Given the description of an element on the screen output the (x, y) to click on. 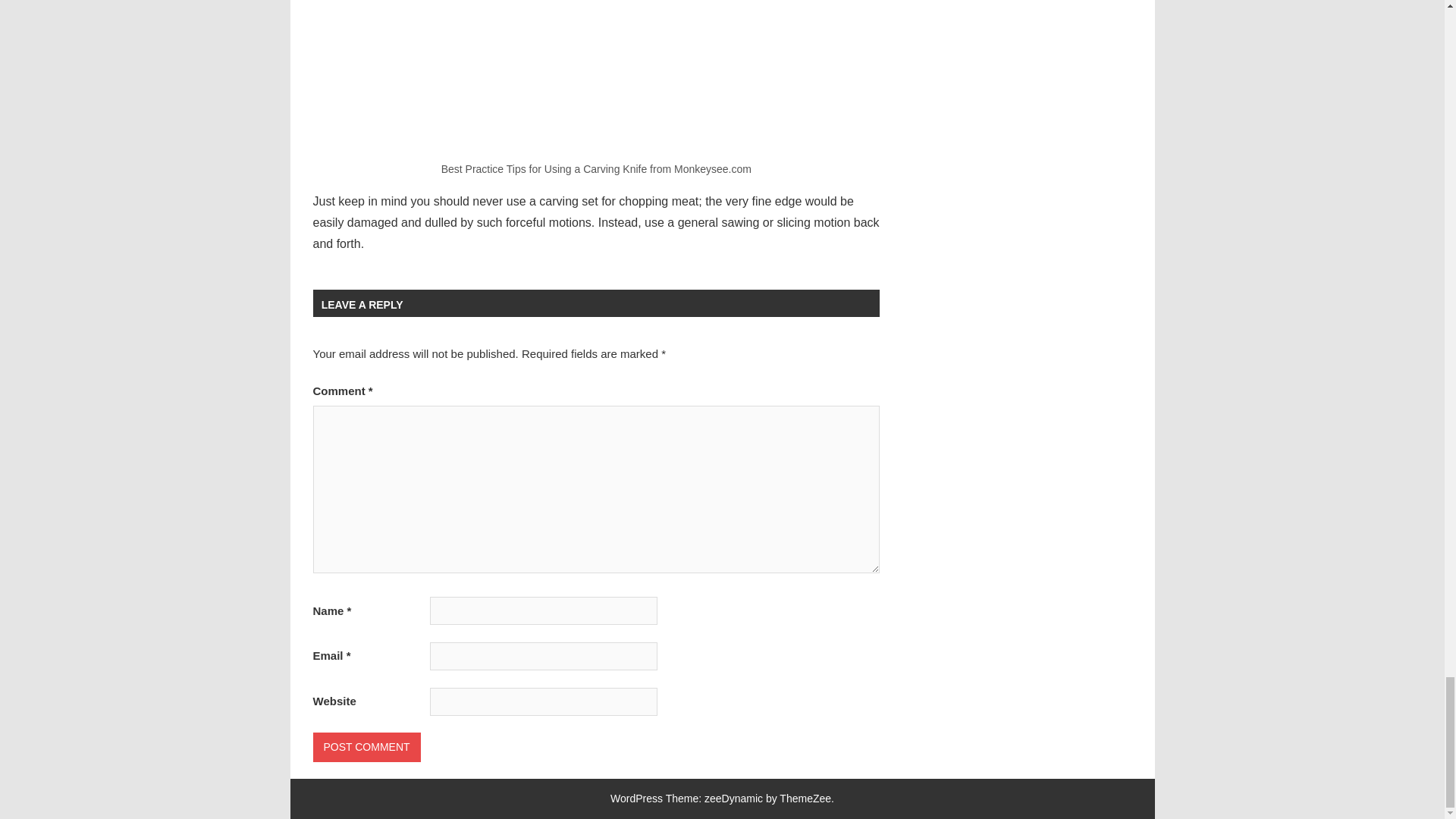
Post Comment (366, 747)
Post Comment (366, 747)
How to Use a Carving Knife (596, 74)
